Given the description of an element on the screen output the (x, y) to click on. 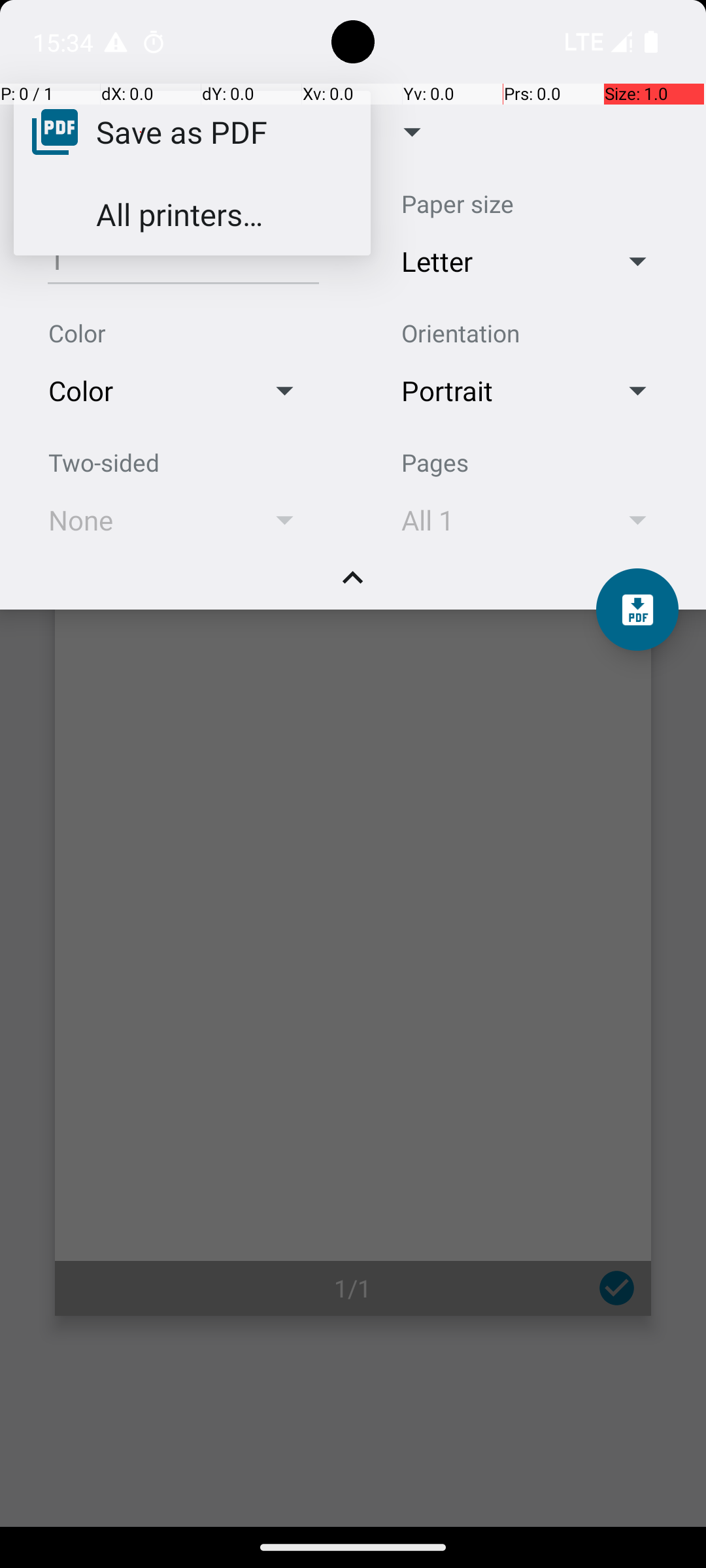
Save as PDF Element type: android.widget.TextView (182, 131)
All printers… Element type: android.widget.TextView (179, 213)
